Given the description of an element on the screen output the (x, y) to click on. 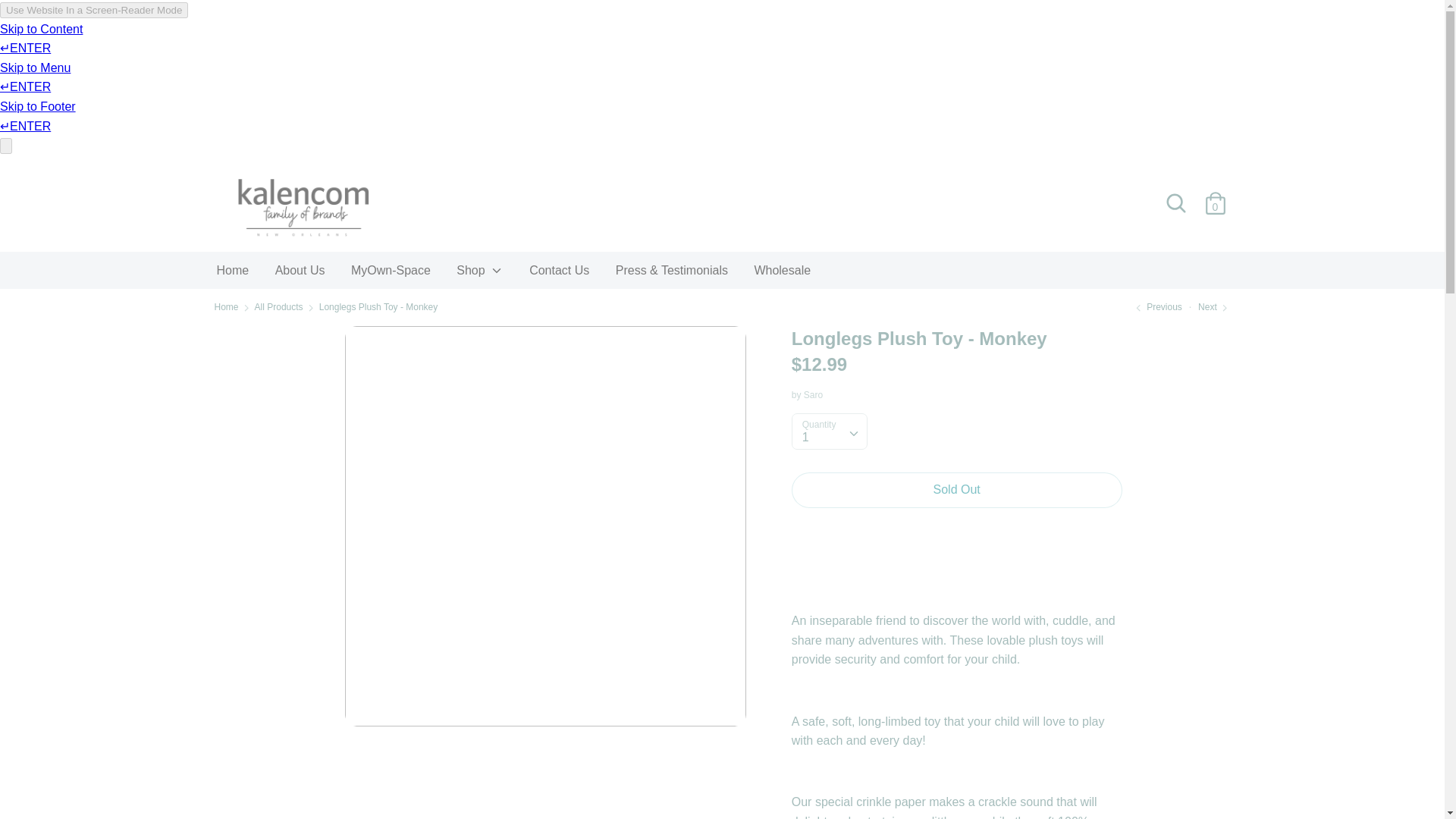
Longlegs Plush Toy - Alpaca (1156, 307)
1 (829, 430)
0 (1214, 196)
Search (1175, 203)
Animal Bib - Gray Alpaca (1214, 307)
